Given the description of an element on the screen output the (x, y) to click on. 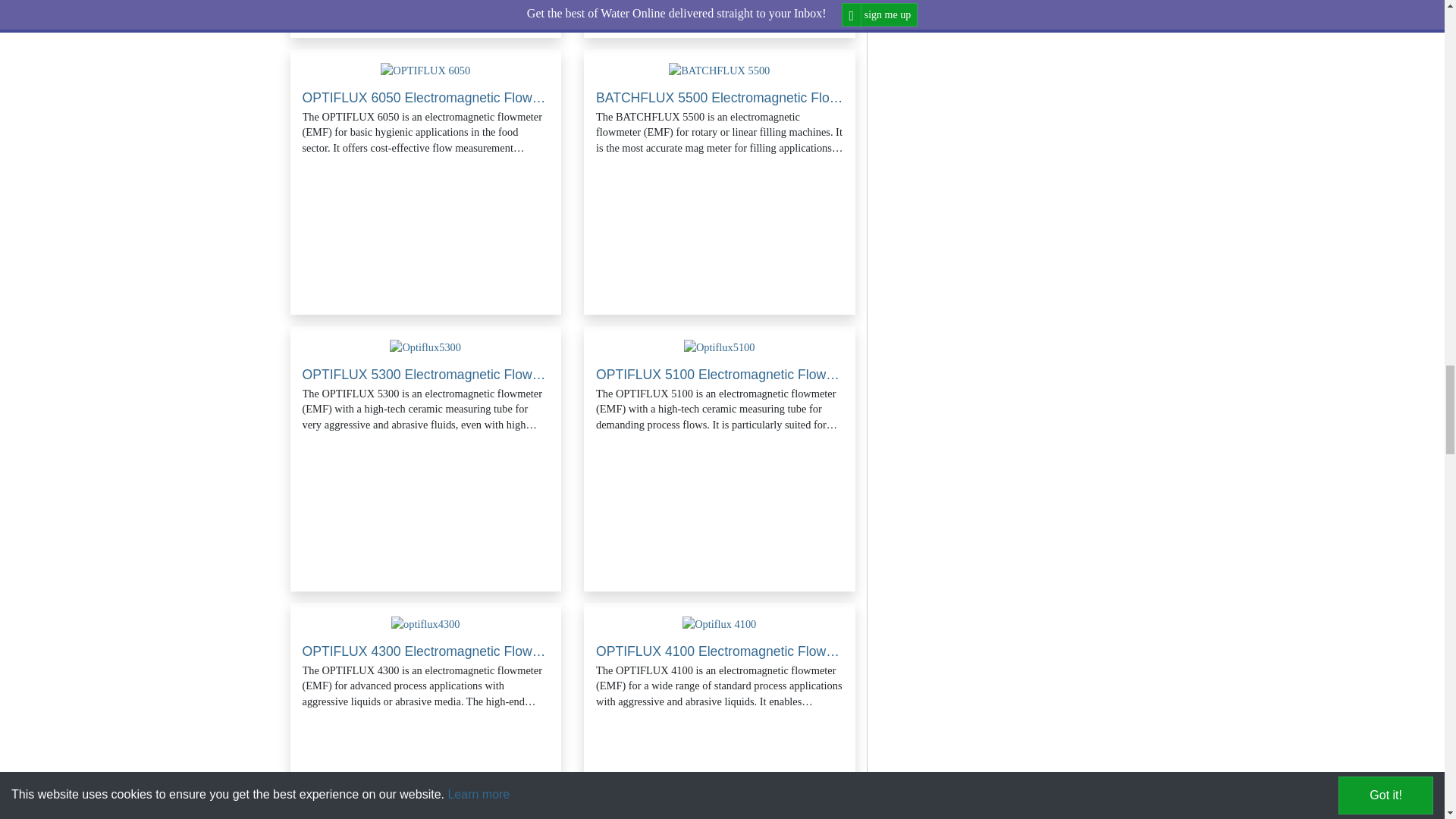
BATCHFLUX 5500 Electromagnetic Flowmeter (719, 70)
OPTIFLUX 5300 Electromagnetic Flowmeter (425, 346)
OPTIFLUX 6050 Electromagnetic Flowmeter (425, 70)
